Given the description of an element on the screen output the (x, y) to click on. 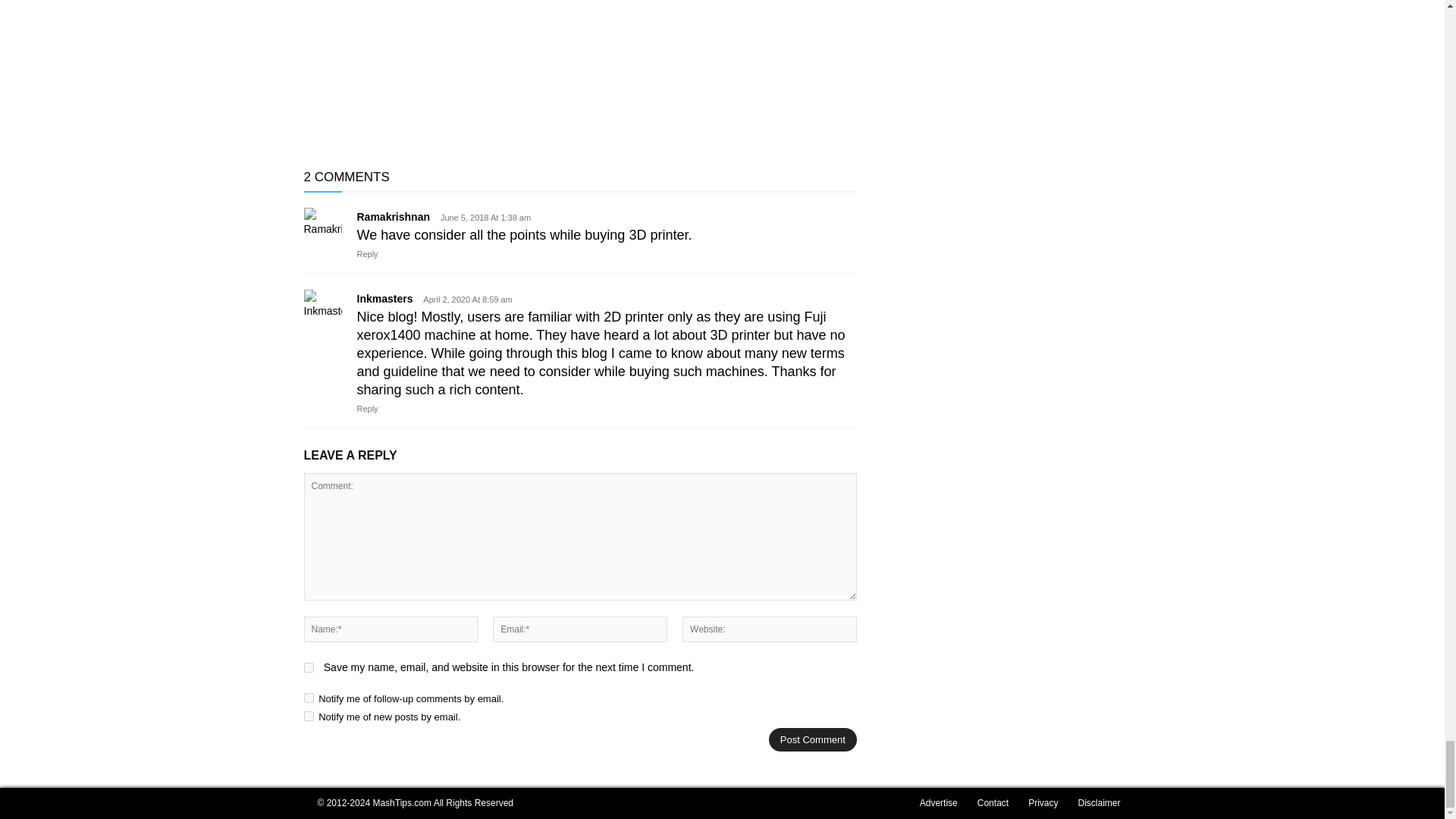
subscribe (307, 716)
yes (307, 667)
Post Comment (812, 739)
subscribe (307, 697)
